Given the description of an element on the screen output the (x, y) to click on. 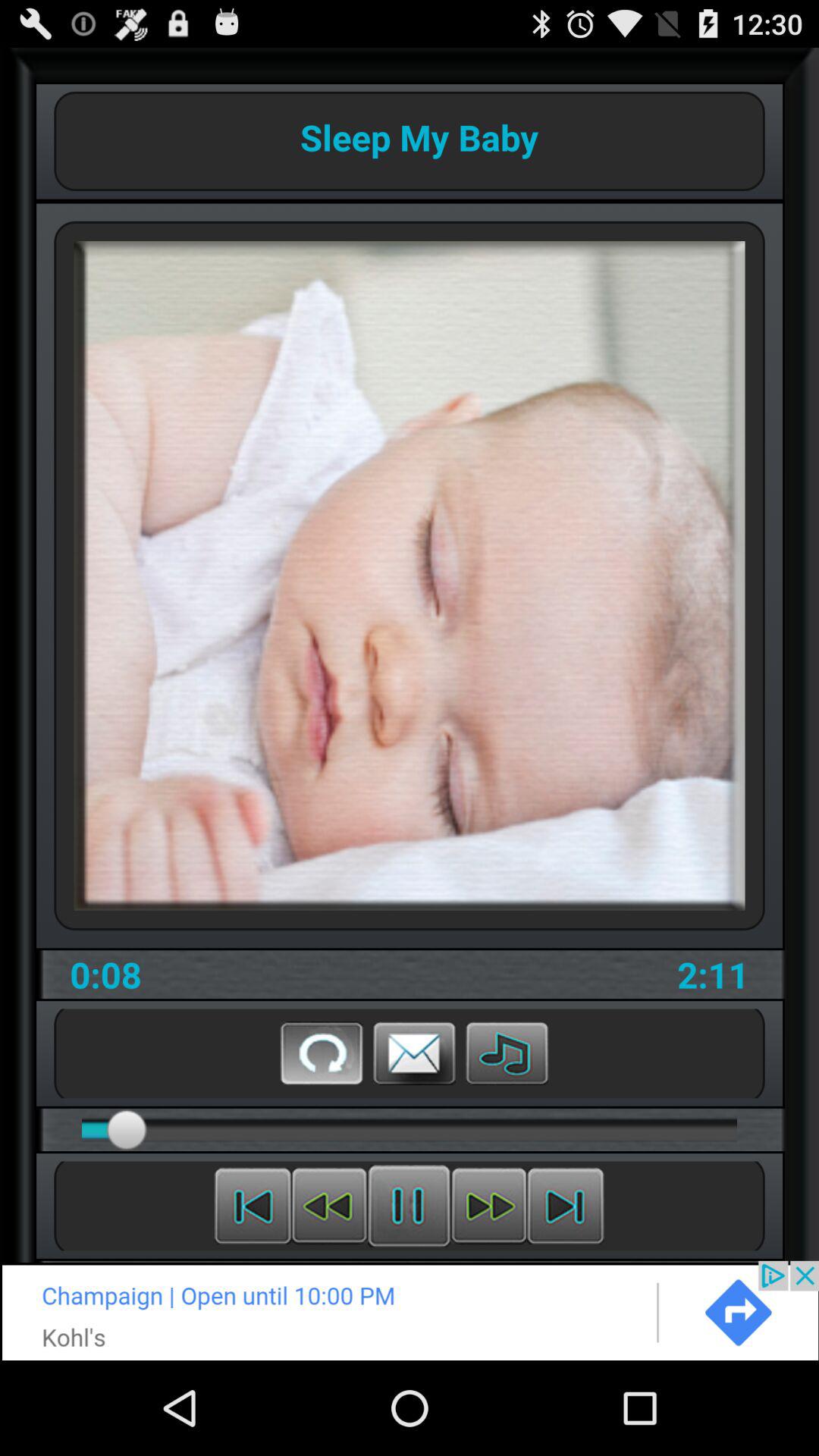
leasion the music (506, 1053)
